Given the description of an element on the screen output the (x, y) to click on. 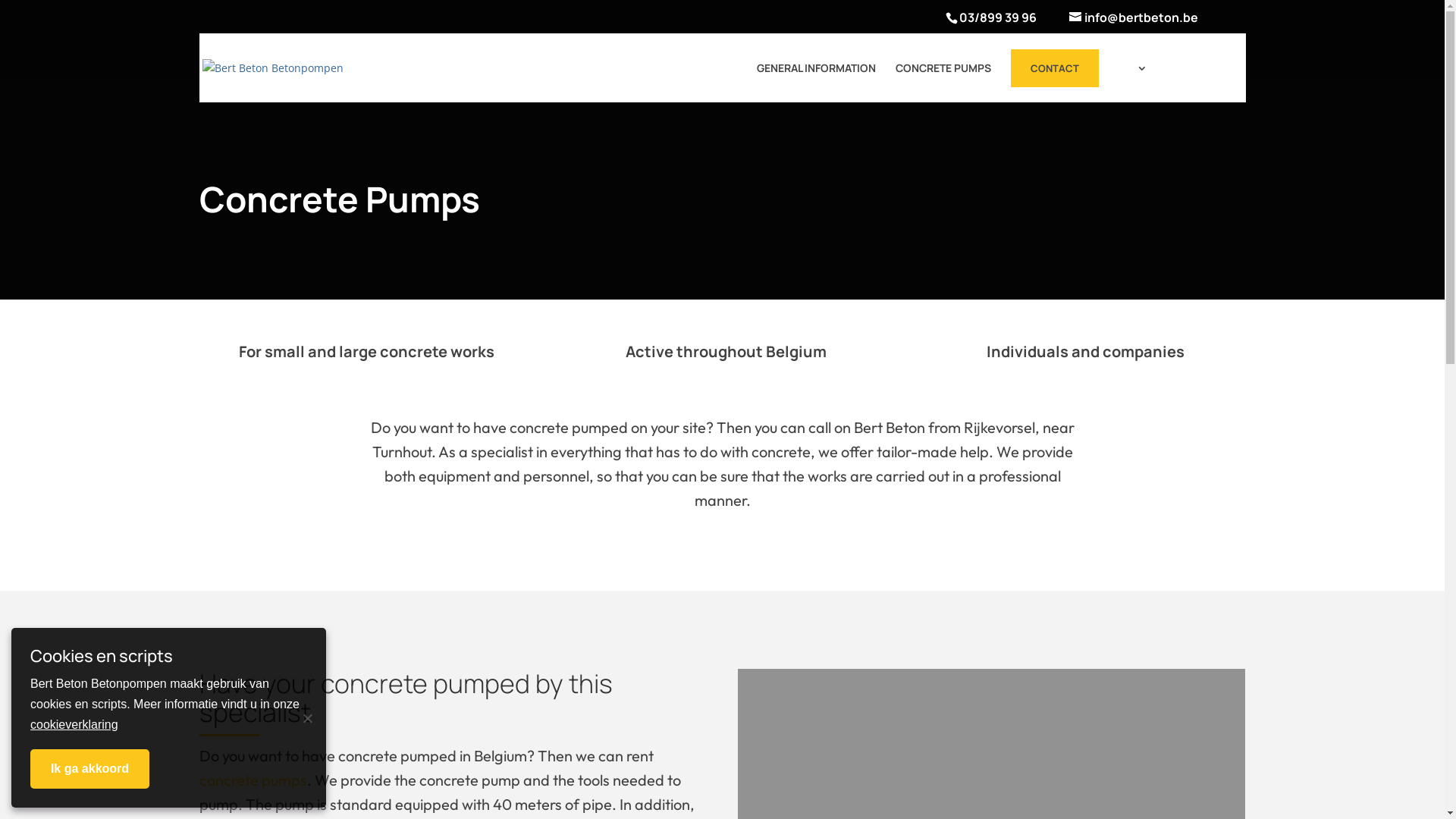
CONTACT Element type: text (1054, 68)
Nee Element type: hover (306, 716)
CONCRETE PUMPS Element type: text (942, 80)
Ik ga akkoord Element type: text (89, 768)
GENERAL INFORMATION Element type: text (815, 80)
concrete pumps Element type: text (252, 779)
03/899 39 96 Element type: text (996, 17)
info@bertbeton.be Element type: text (1122, 32)
cookieverklaring Element type: text (74, 724)
